Given the description of an element on the screen output the (x, y) to click on. 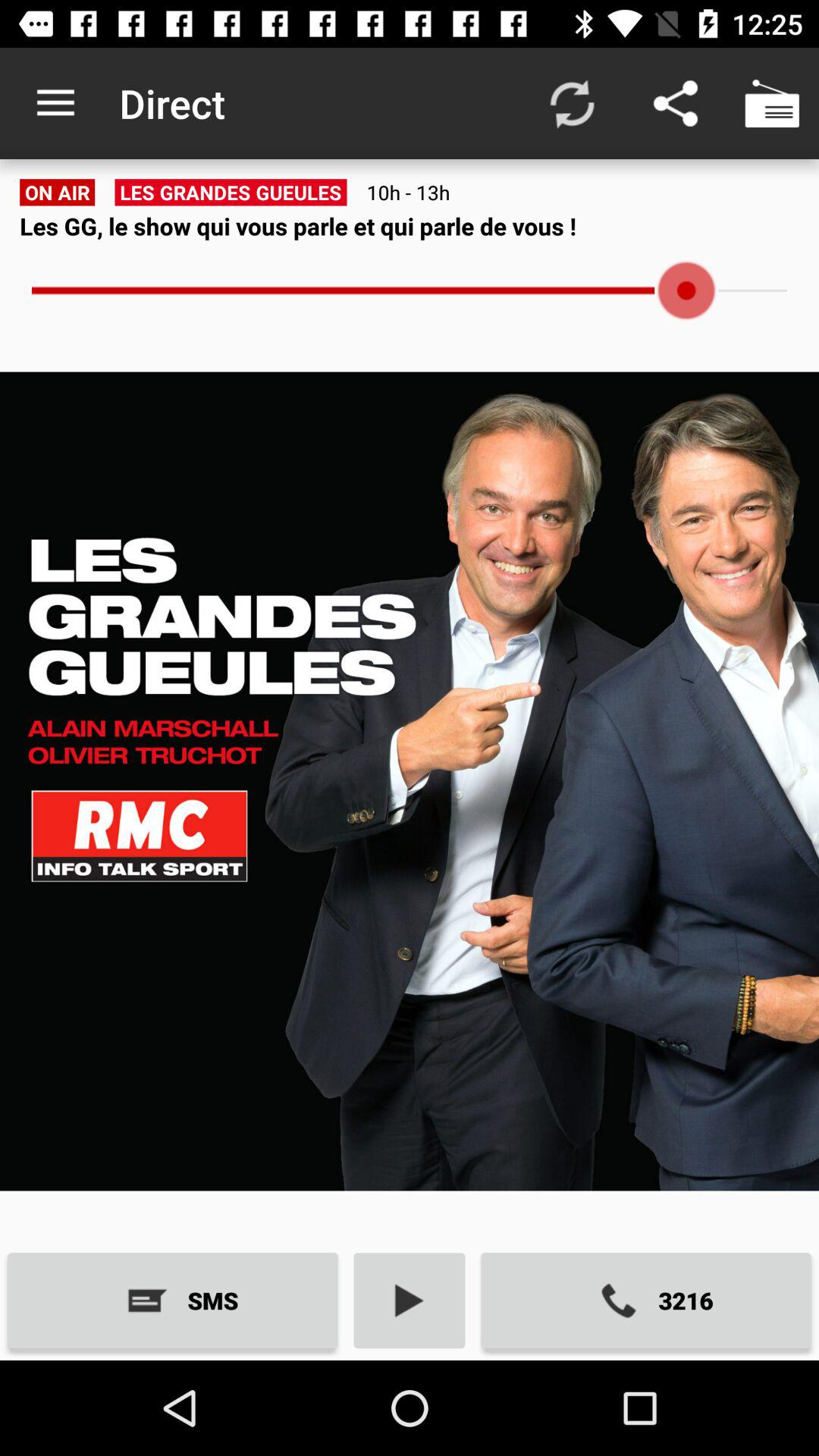
launch the sms at the bottom left corner (172, 1300)
